Given the description of an element on the screen output the (x, y) to click on. 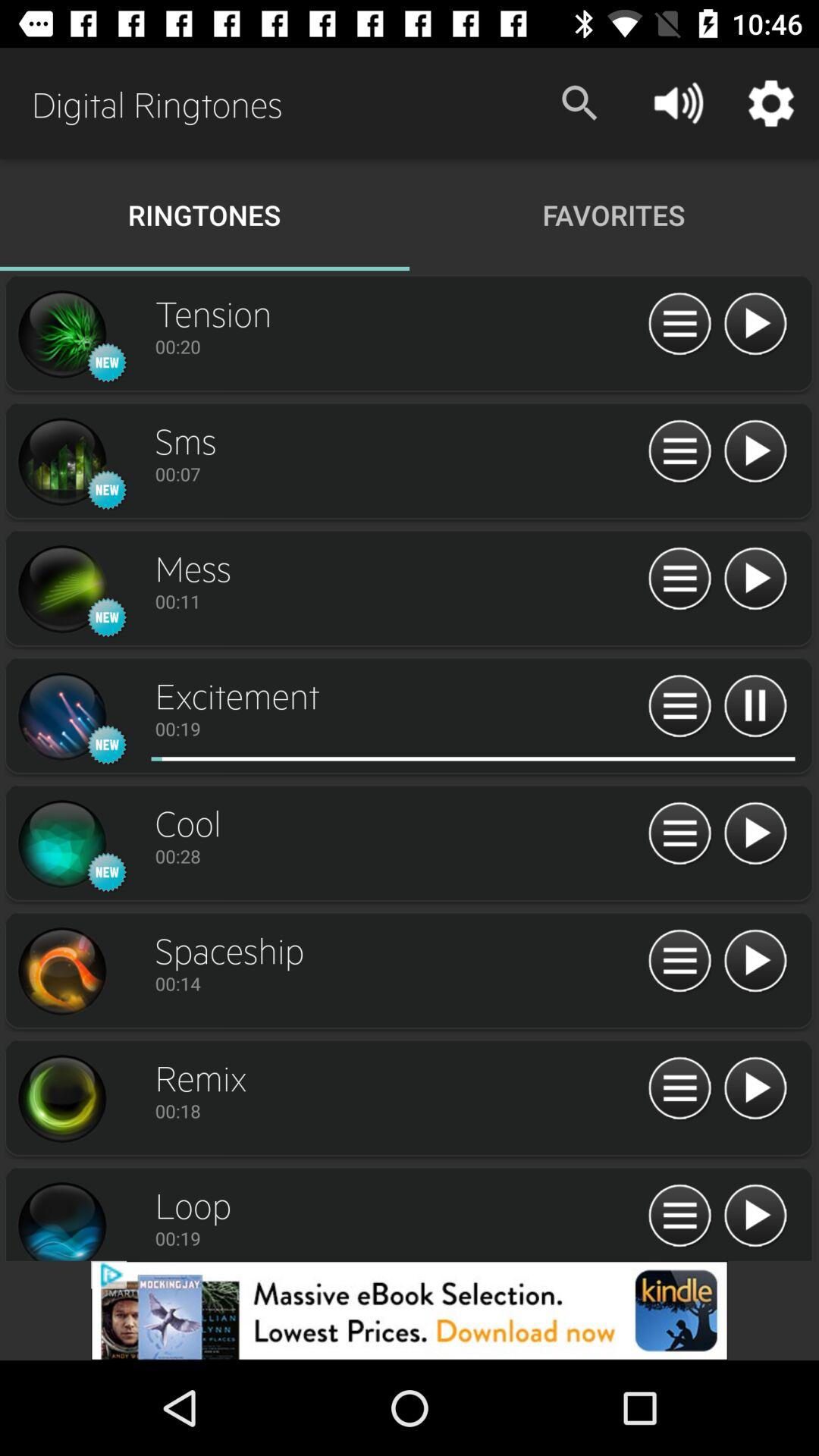
play list option (679, 1216)
